Given the description of an element on the screen output the (x, y) to click on. 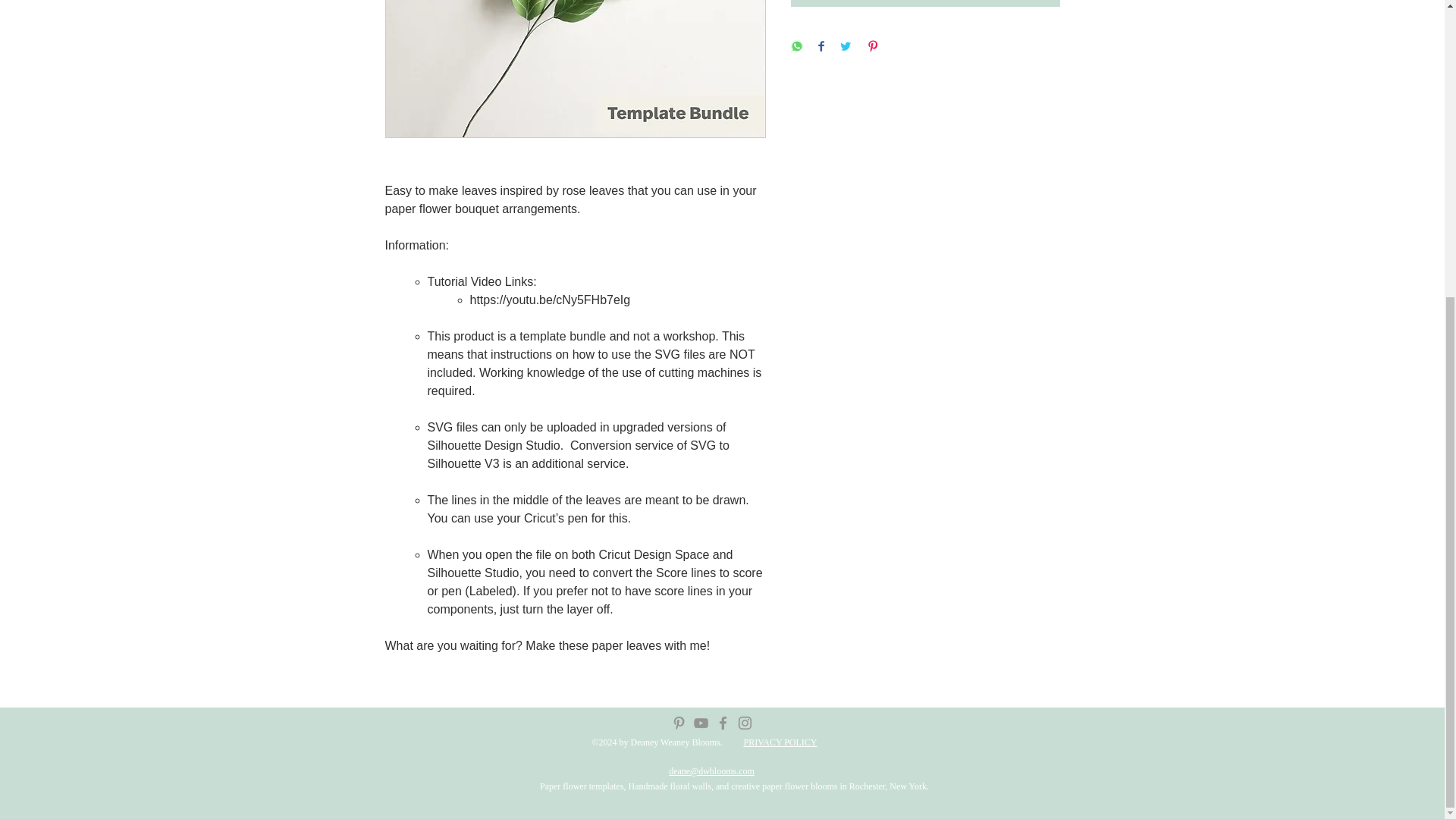
PRIVACY POLICY (779, 742)
Buy Now (924, 3)
